Given the description of an element on the screen output the (x, y) to click on. 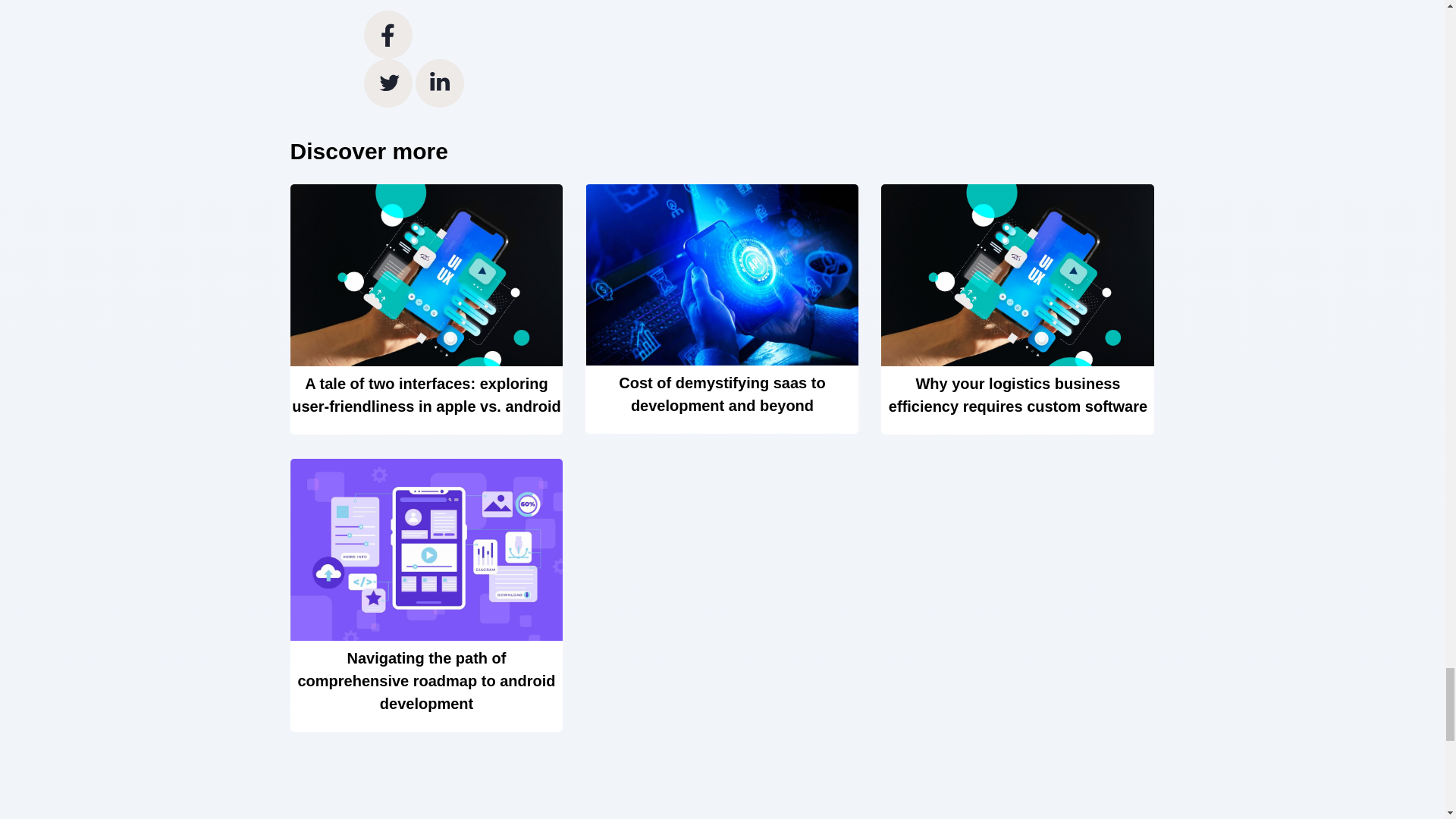
Share page on Linkedin (439, 82)
cost of demystifying saas to development and beyond (722, 309)
Share page on Facebook (388, 33)
Share page on Facebook (388, 33)
Share page on Twitter (389, 82)
Share page on Linkedin (439, 82)
Share page on Twitter (389, 82)
